Given the description of an element on the screen output the (x, y) to click on. 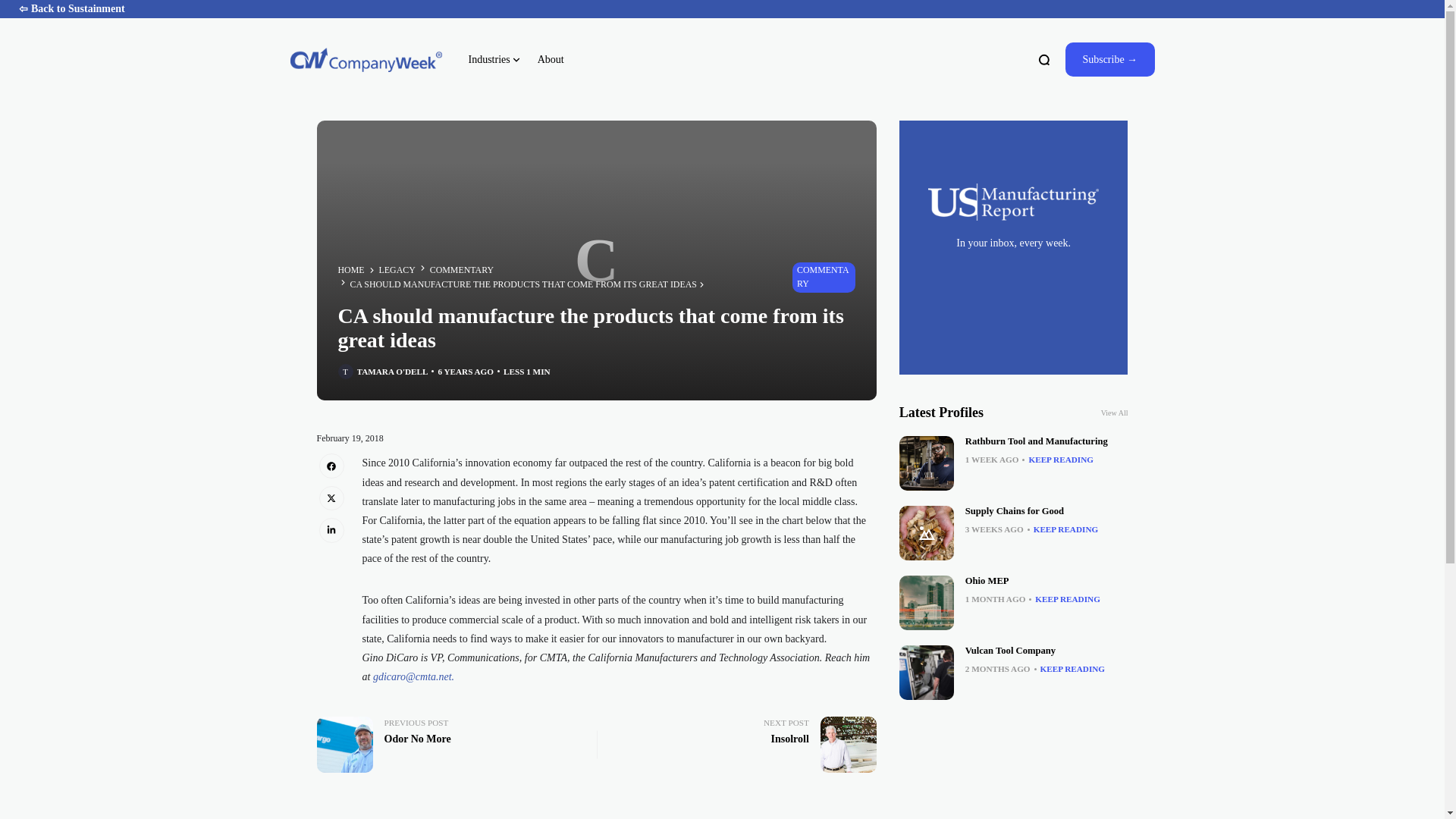
Supply Chains for Good (1014, 511)
6 YEARS AGO (465, 371)
Rathburn Tool and Manufacturing (926, 462)
CompanyWeek (365, 59)
LEGACY (396, 270)
TAMARA O'DELL (742, 744)
HOME (392, 371)
Ohio MEP (351, 270)
COMMENTARY (926, 602)
